Given the description of an element on the screen output the (x, y) to click on. 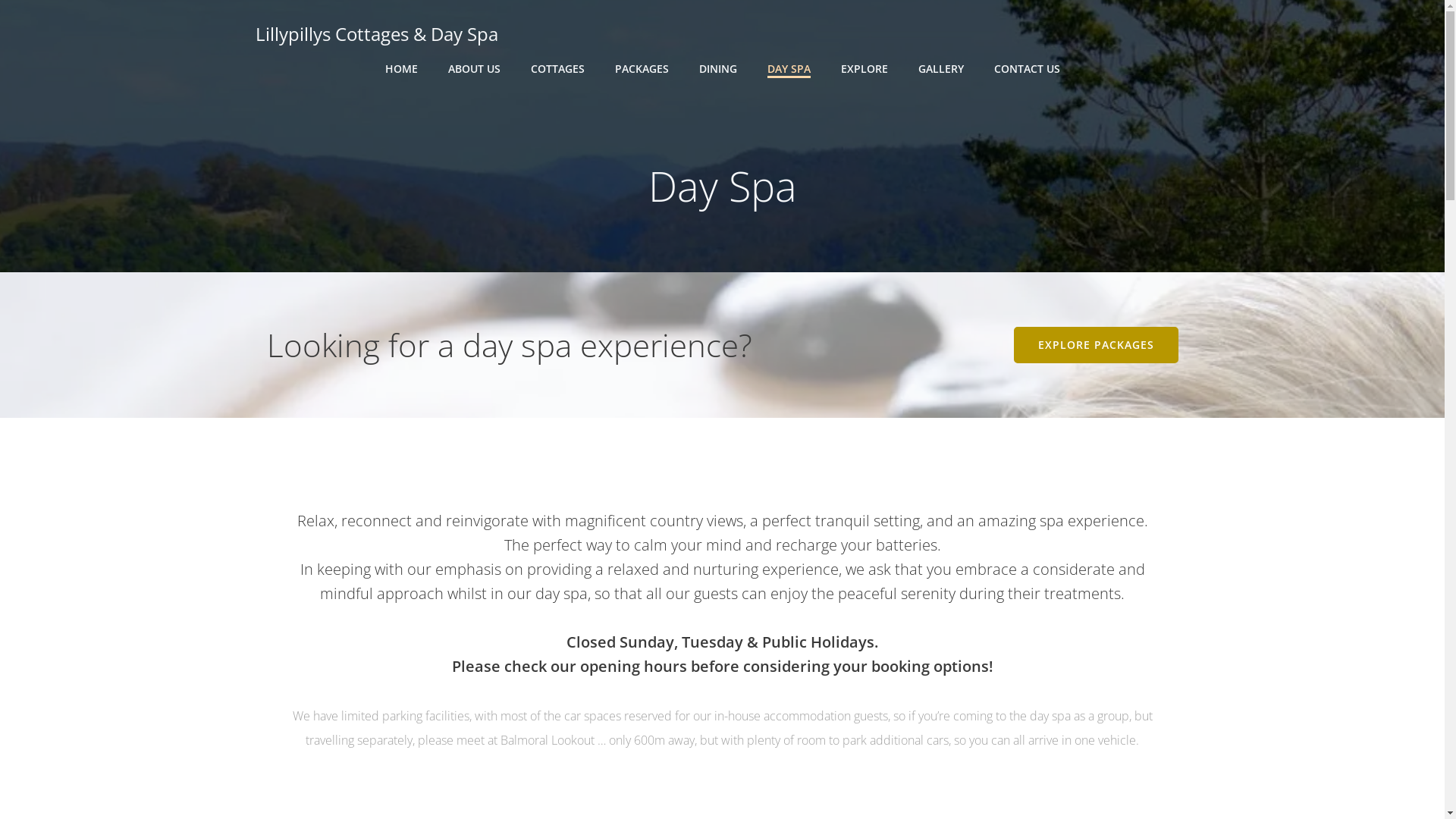
Lillypillys Cottages & Day Spa Element type: text (375, 33)
EXPLORE PACKAGES Element type: text (1095, 344)
CONTACT US Element type: text (1026, 68)
DAY SPA Element type: text (788, 68)
GALLERY Element type: text (940, 68)
EXPLORE Element type: text (863, 68)
COTTAGES Element type: text (557, 68)
PACKAGES Element type: text (641, 68)
HOME Element type: text (401, 68)
ABOUT US Element type: text (473, 68)
DINING Element type: text (718, 68)
